Given the description of an element on the screen output the (x, y) to click on. 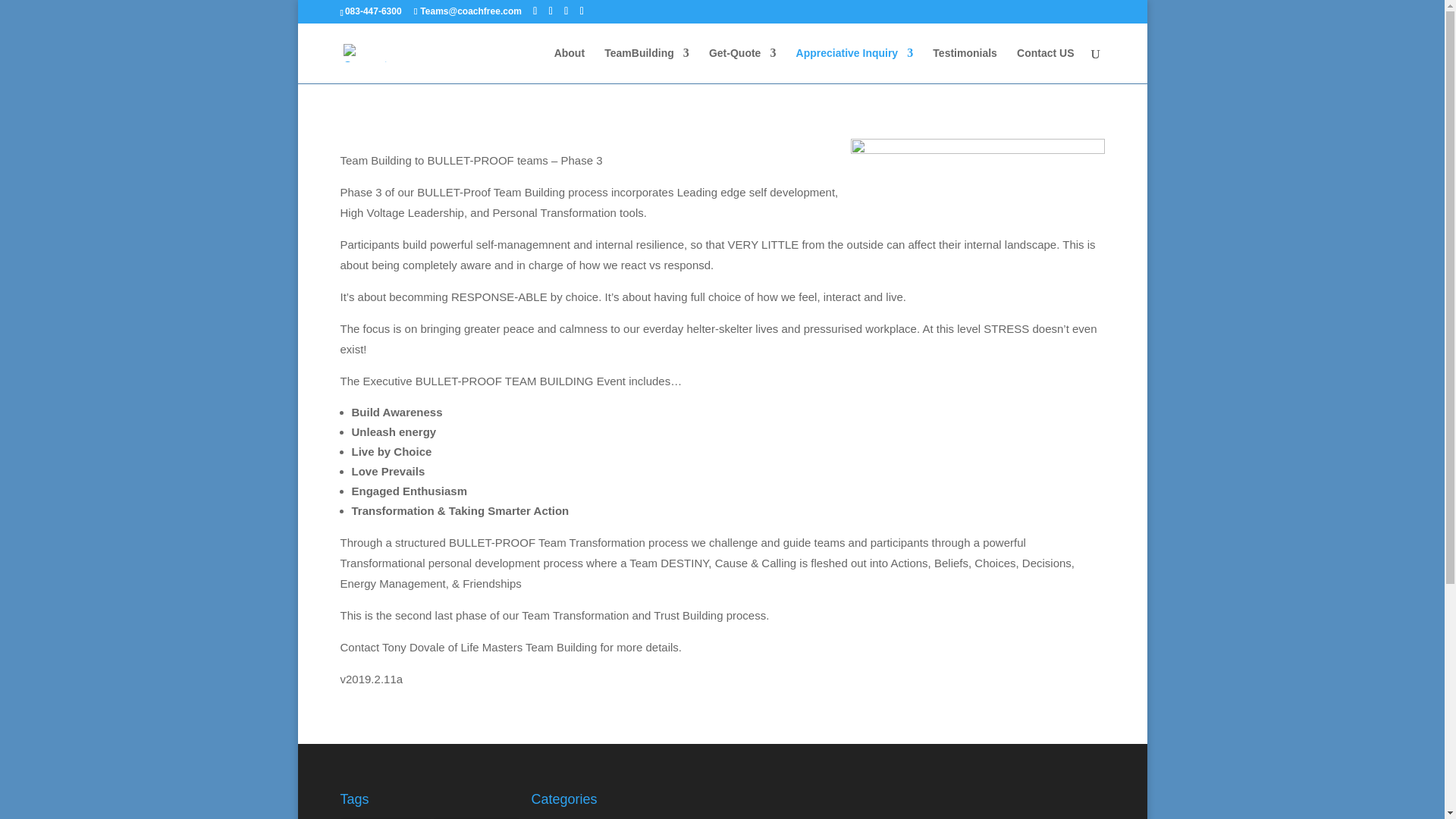
TeamBuilding (646, 65)
Appreciative Inquiry (855, 65)
bullets1 (977, 184)
Get-Quote (742, 65)
